Given the description of an element on the screen output the (x, y) to click on. 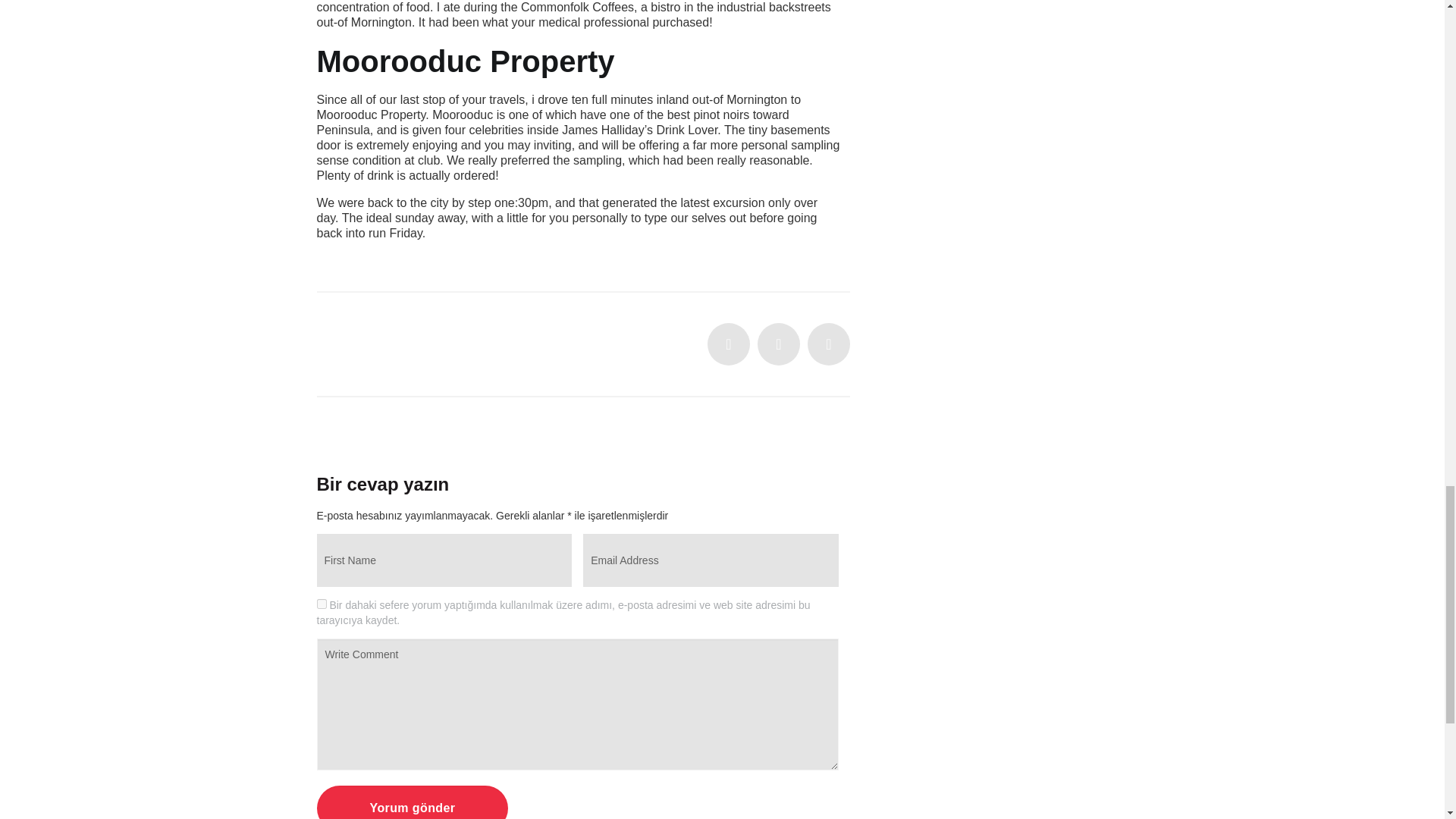
Social Share facebook (778, 343)
Social Share twitter (728, 343)
yes (321, 603)
Social Share whatsapp (829, 343)
